Given the description of an element on the screen output the (x, y) to click on. 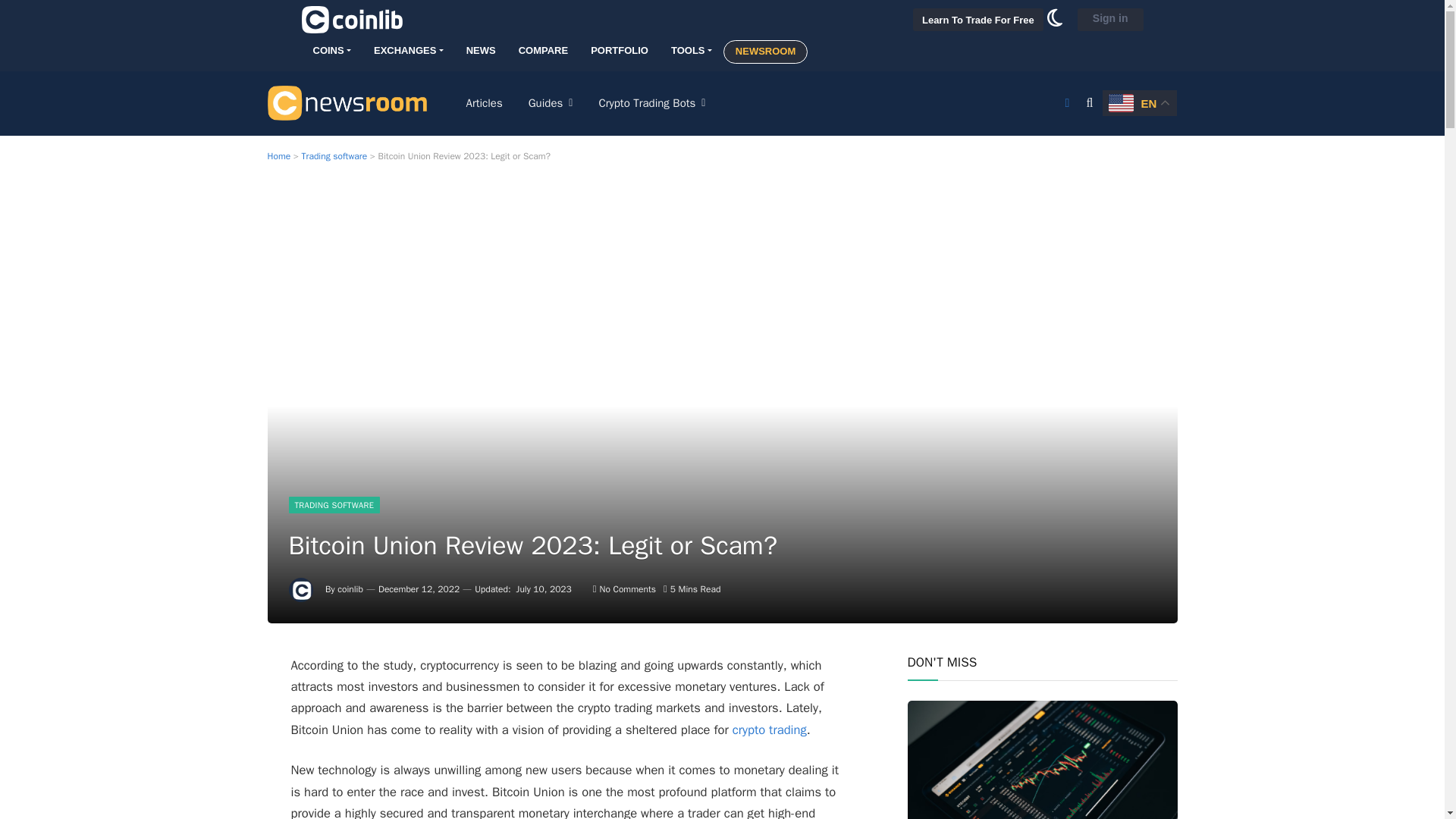
Switch to Dark Design - easier on eyes. (1054, 23)
NEWS (481, 51)
Learn To Trade For Free (977, 19)
Sign in (1109, 19)
COINS (330, 51)
EXCHANGES (408, 51)
COMPARE (542, 51)
PORTFOLIO (619, 51)
Coinlib Newsroom (346, 102)
Switch to Dark Design - easier on eyes. (1066, 102)
Coinlib.io (352, 19)
